Given the description of an element on the screen output the (x, y) to click on. 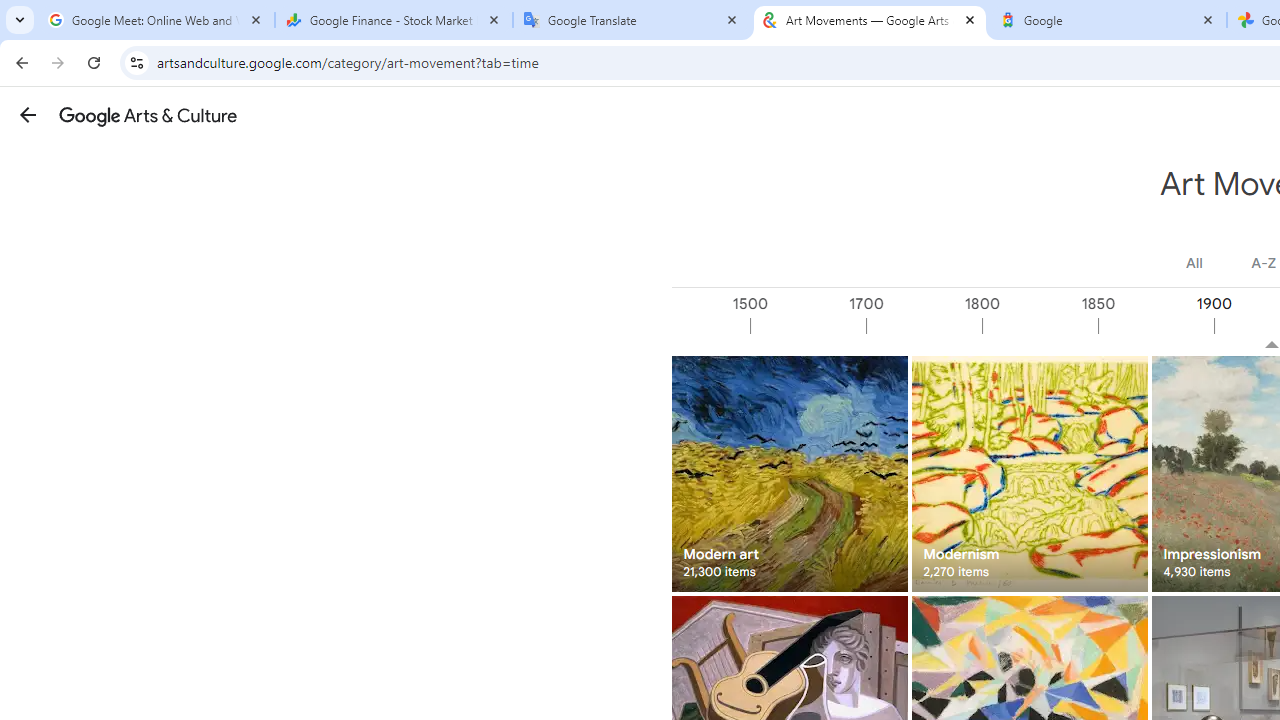
1800 (1039, 326)
Google Arts & Culture (148, 115)
